Given the description of an element on the screen output the (x, y) to click on. 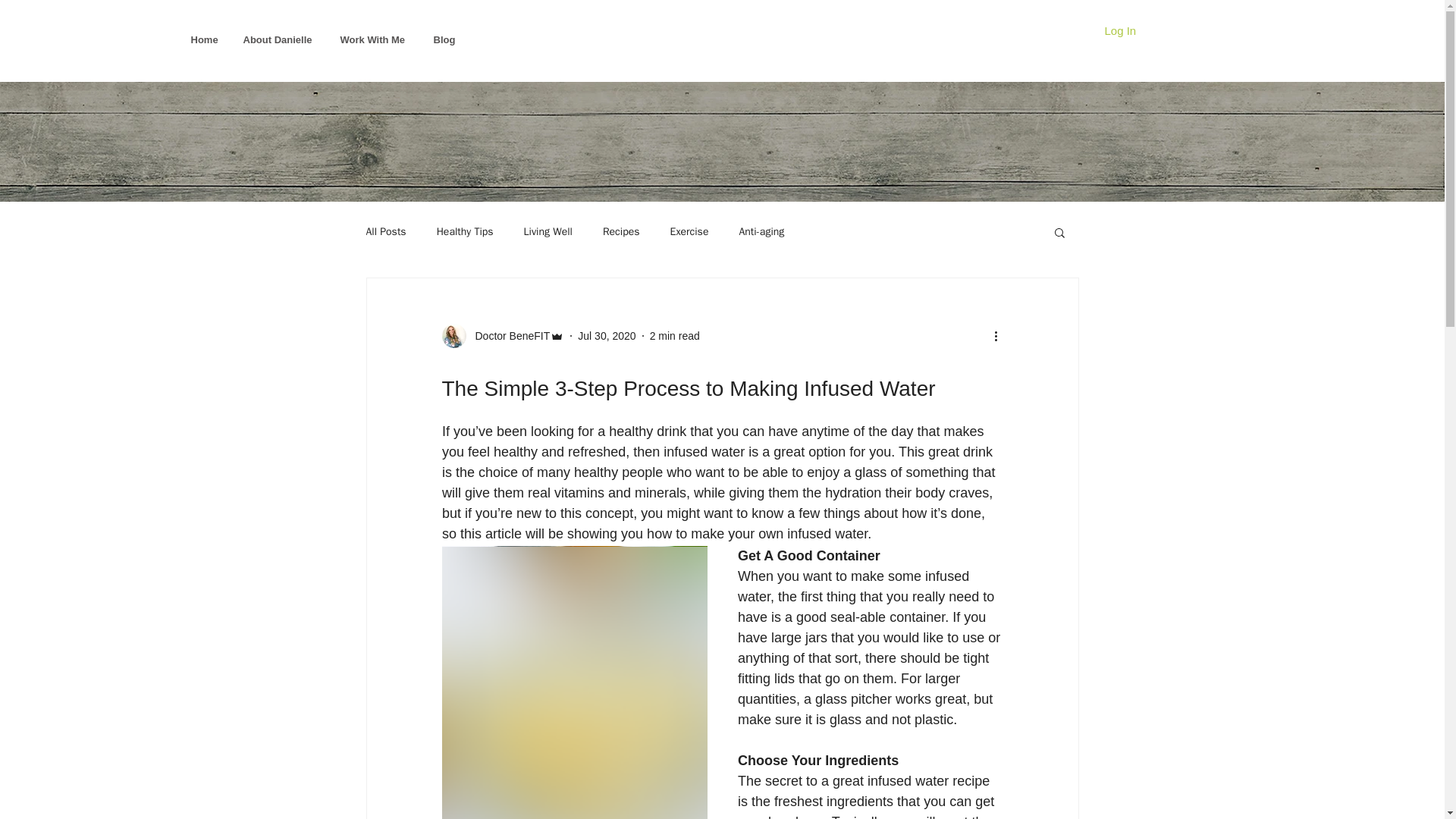
Healthy Tips (464, 232)
Recipes (621, 232)
Blog (443, 39)
Living Well (548, 232)
Log In (1120, 30)
2 min read (674, 335)
Work With Me (375, 39)
Exercise (689, 232)
Doctor BeneFIT (502, 335)
About Danielle (280, 39)
